Given the description of an element on the screen output the (x, y) to click on. 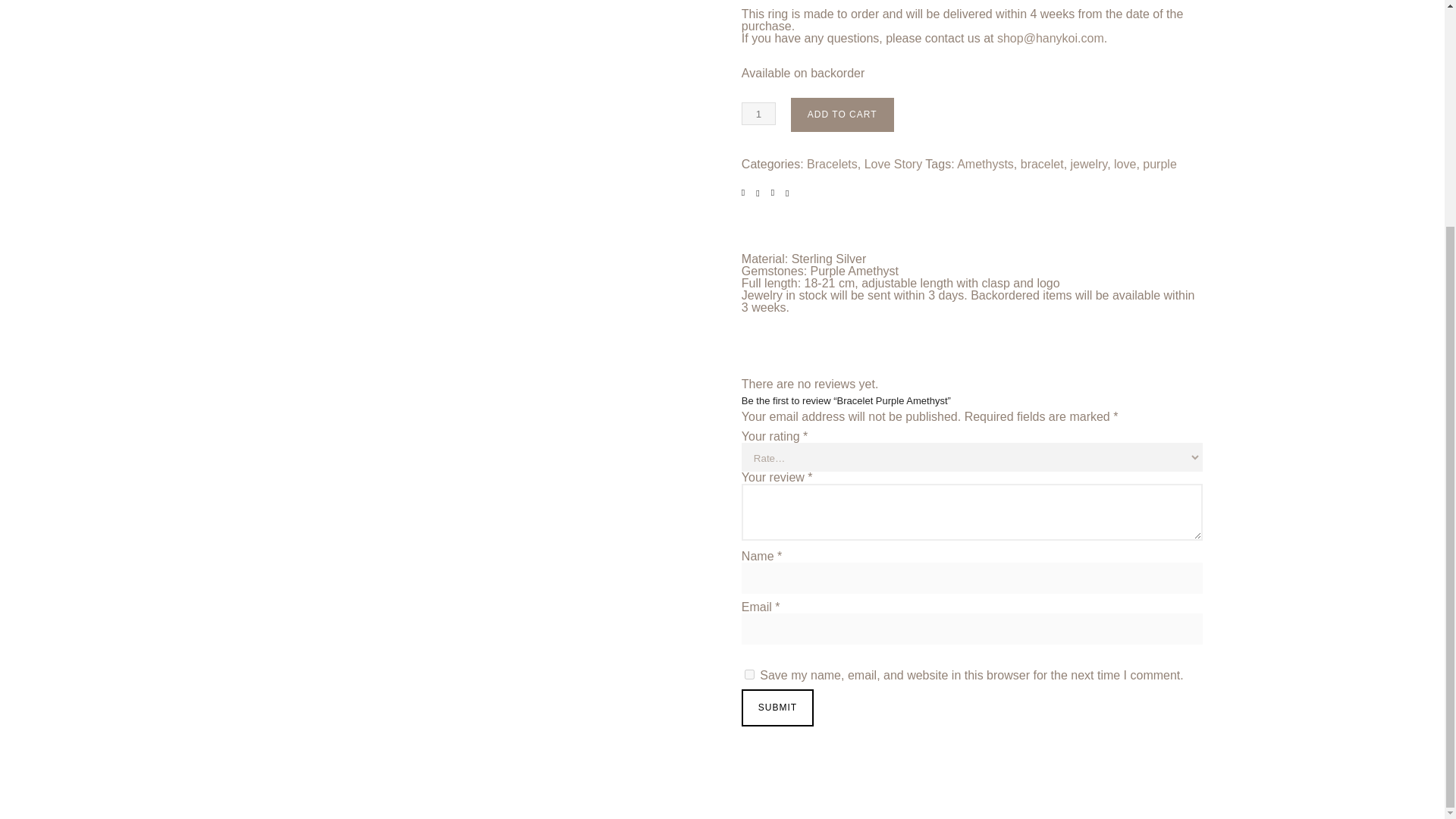
1 (758, 113)
Submit (777, 707)
yes (749, 674)
